Given the description of an element on the screen output the (x, y) to click on. 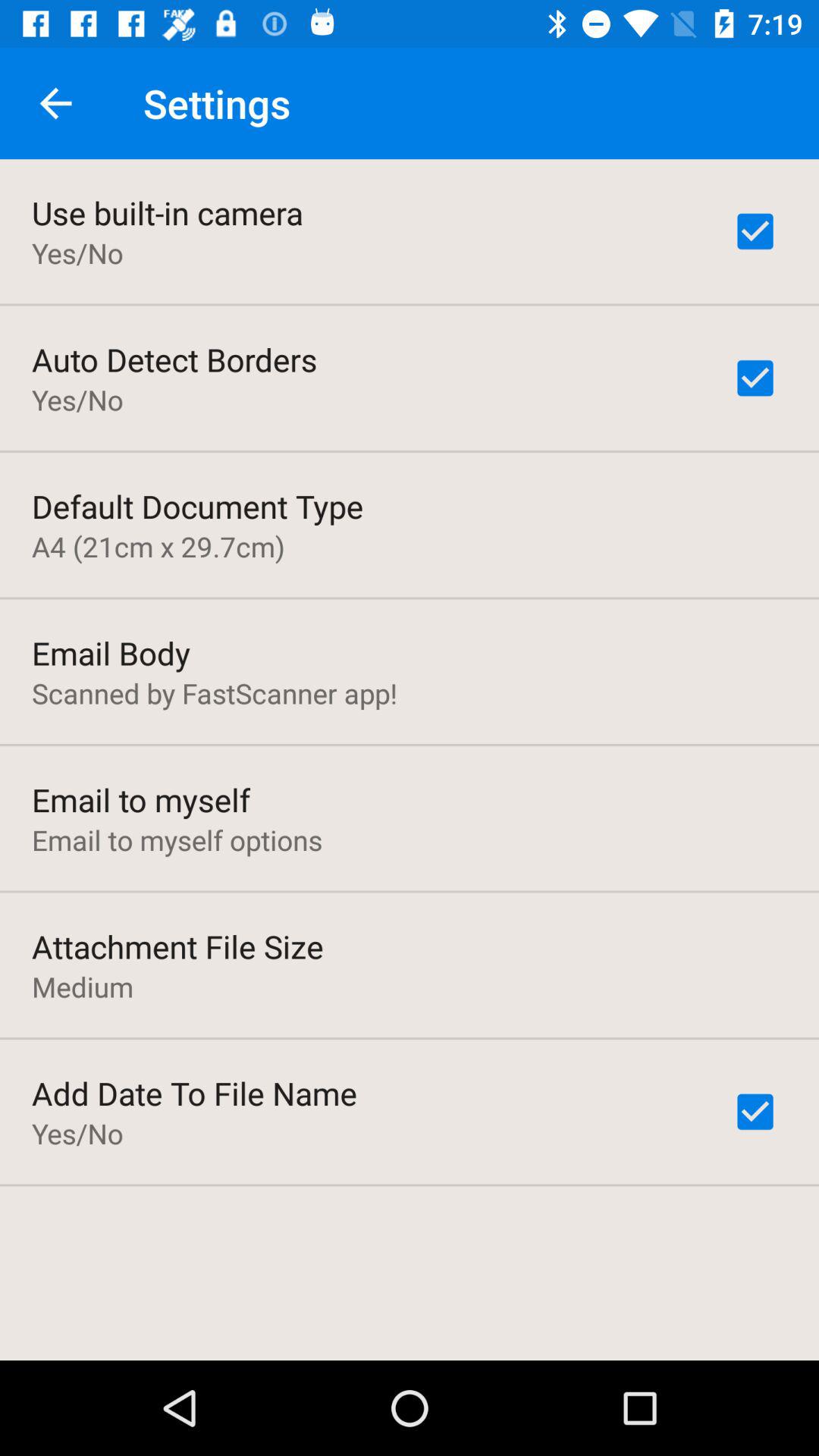
tap item above the yes/no item (167, 212)
